Given the description of an element on the screen output the (x, y) to click on. 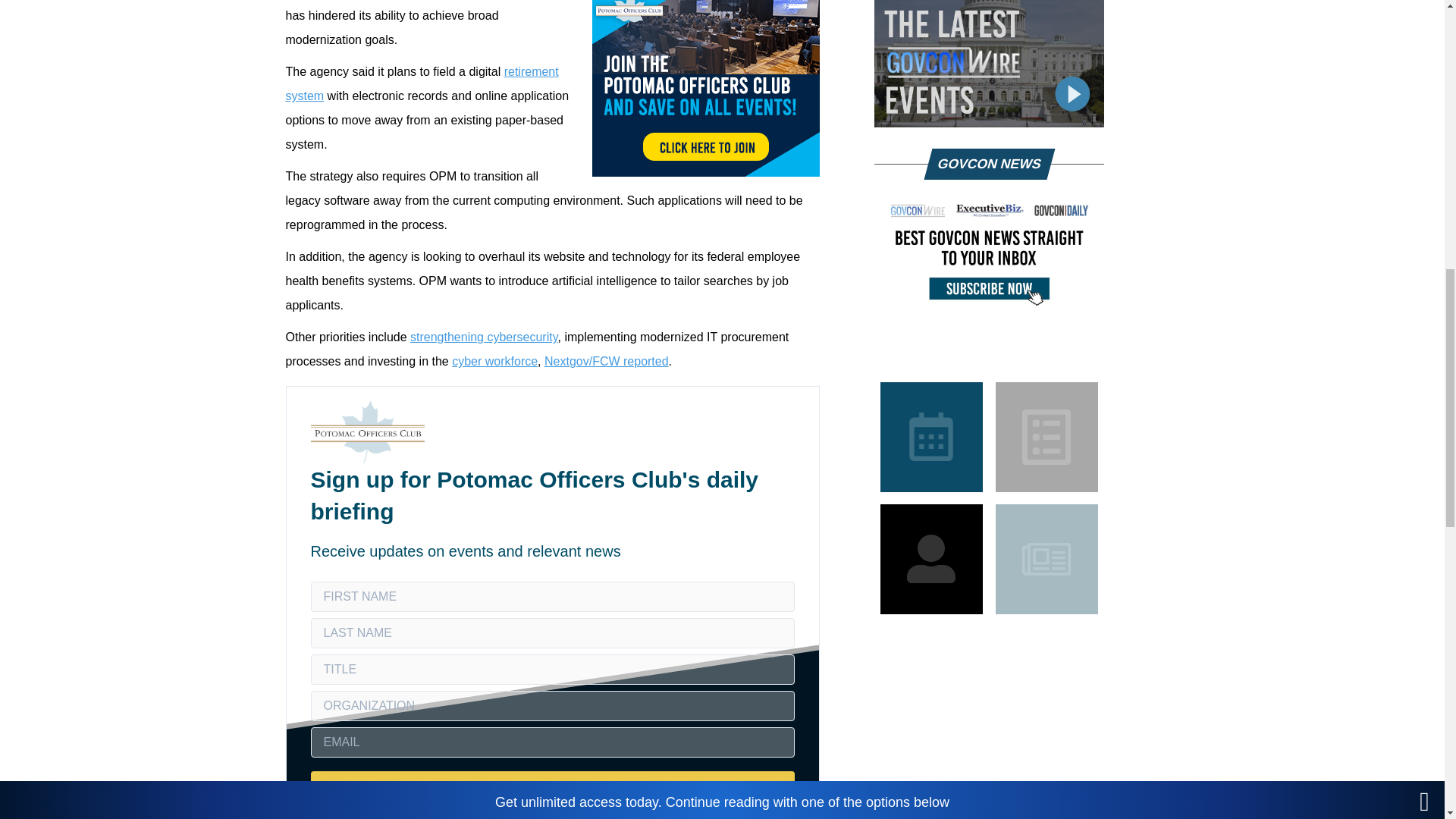
retirement system (421, 83)
